Given the description of an element on the screen output the (x, y) to click on. 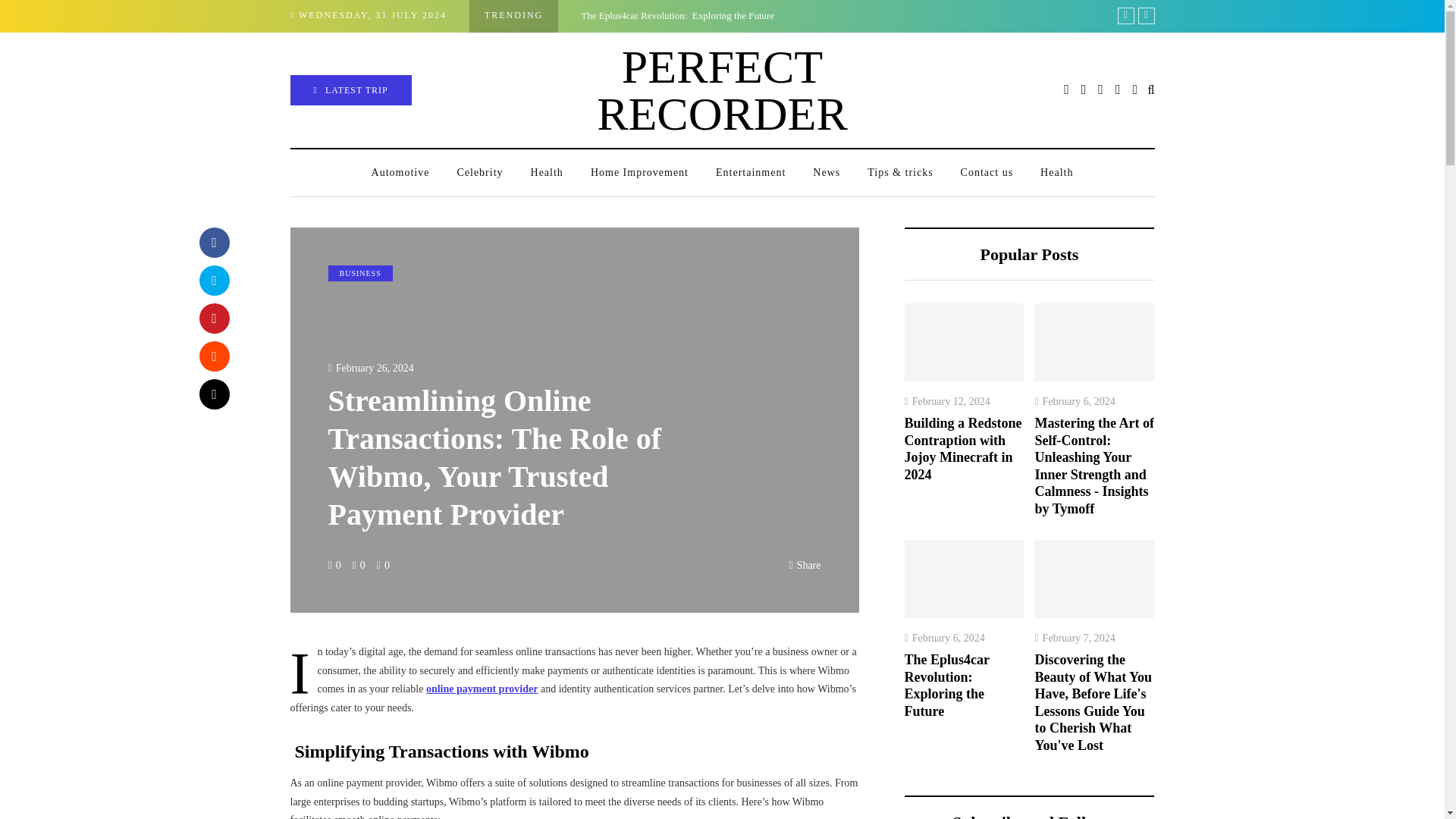
BUSINESS (359, 273)
Celebrity (479, 172)
Automotive (401, 172)
Share on Reddit (213, 356)
Health (546, 172)
Share by Email (213, 394)
Health (1056, 172)
Share with Facebook (213, 242)
online payment provider (482, 688)
LATEST TRIP (349, 90)
Building a Redstone Contraption with Jojoy Minecraft in 2024 (1257, 15)
PERFECT RECORDER (721, 89)
Entertainment (750, 172)
Contact us (987, 172)
Home Improvement (638, 172)
